Given the description of an element on the screen output the (x, y) to click on. 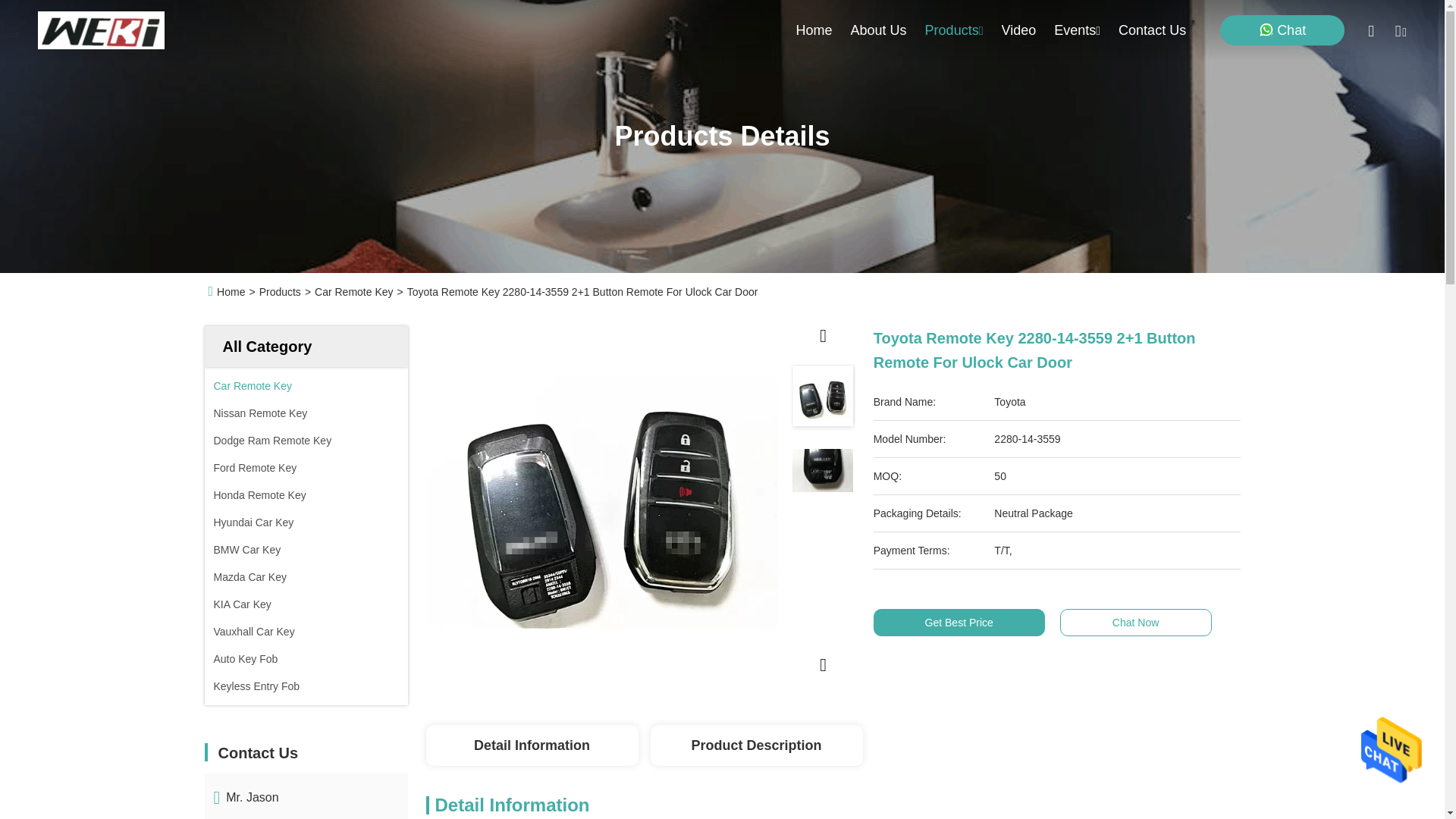
Contact Us (1152, 30)
Products (954, 30)
About Us (878, 30)
Products (954, 30)
Chat (1281, 30)
About Us (878, 30)
Weki international trade co.,ltd (100, 30)
